Given the description of an element on the screen output the (x, y) to click on. 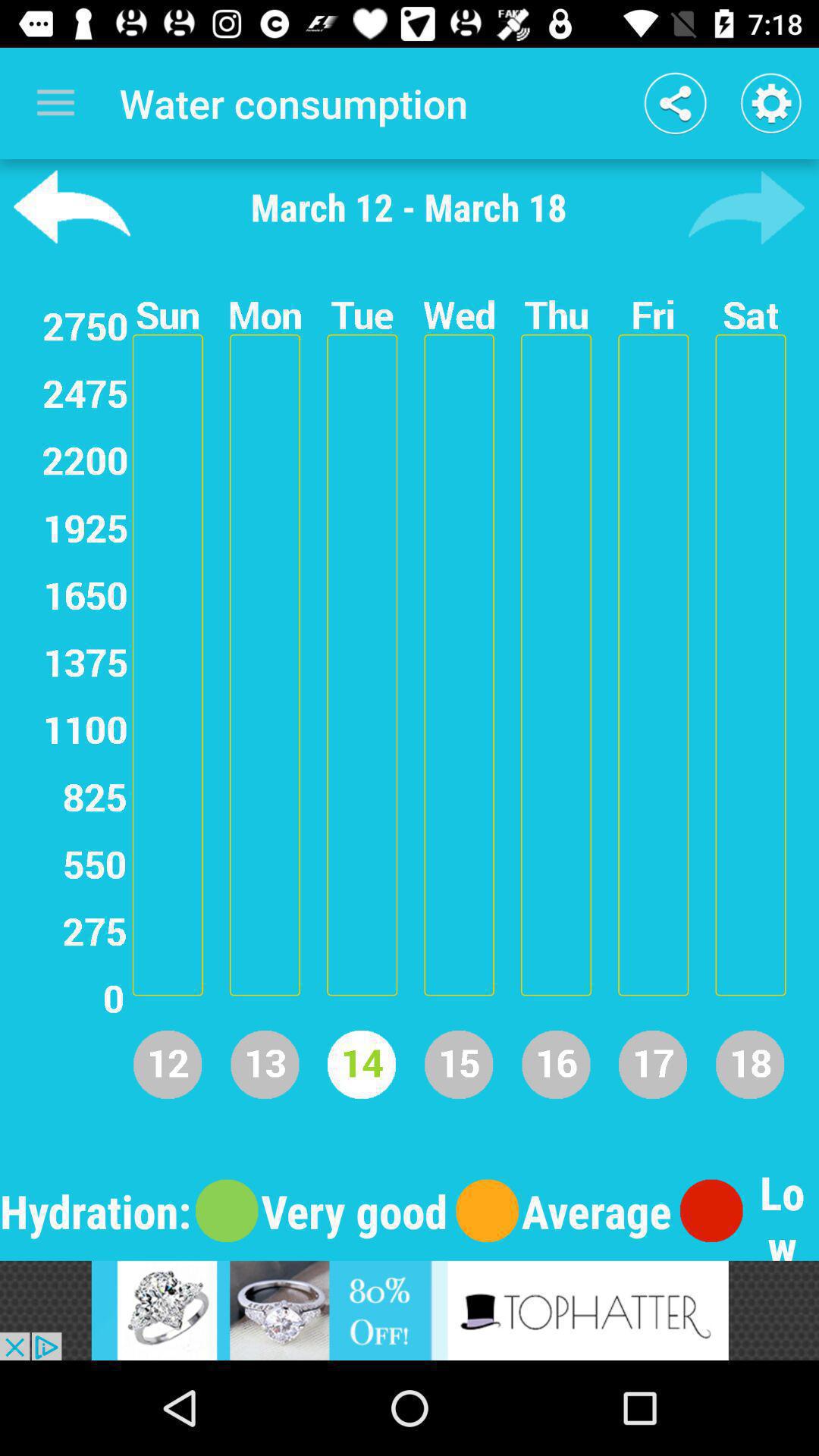
back button (71, 207)
